Given the description of an element on the screen output the (x, y) to click on. 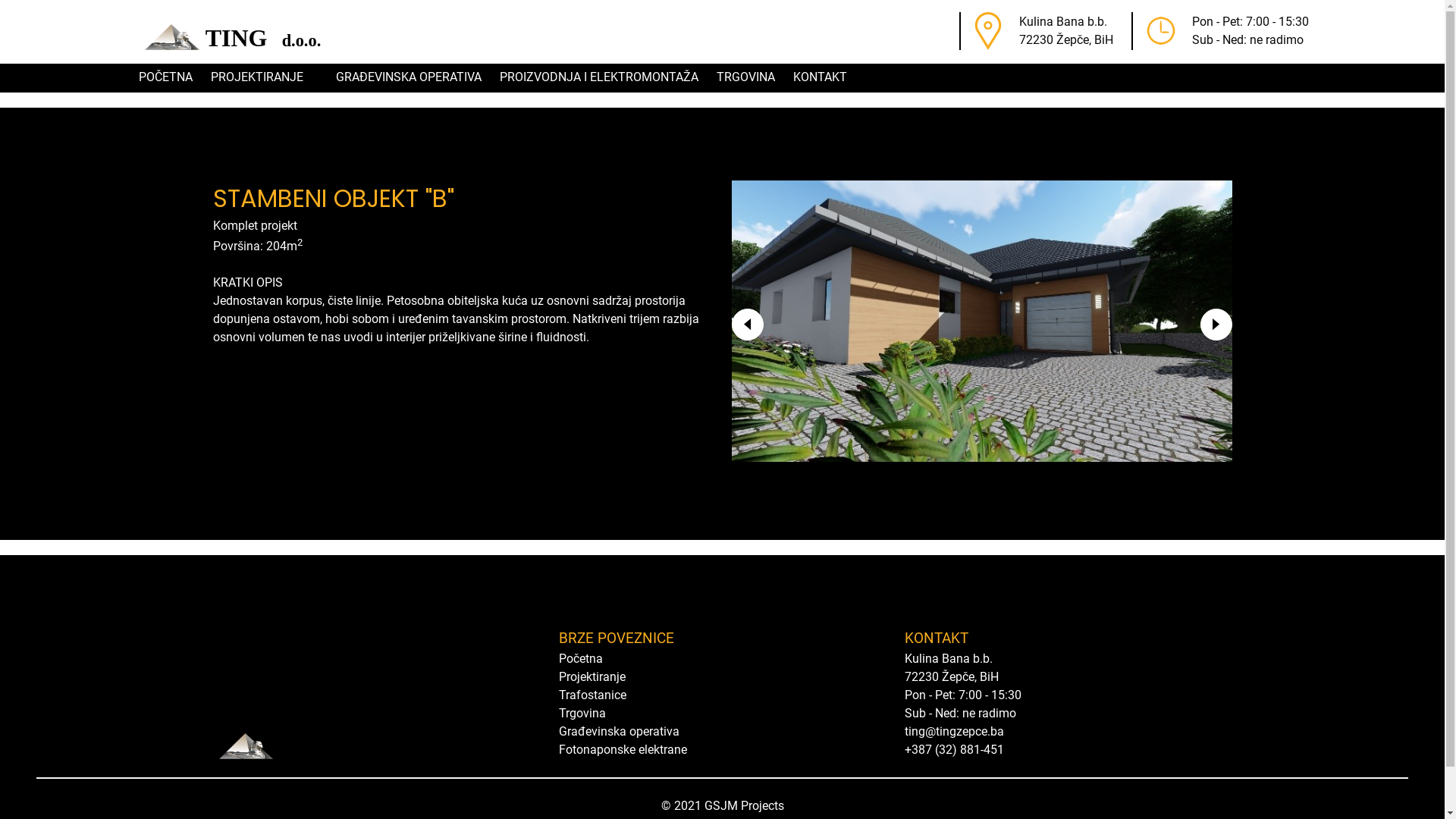
KONTAKT Element type: text (820, 77)
TING d.o.o. Element type: text (229, 31)
TRGOVINA Element type: text (745, 77)
Projektiranje Element type: text (591, 676)
Fotonaponske elektrane Element type: text (622, 749)
Trgovina Element type: text (581, 713)
Trafostanice Element type: text (591, 694)
PROJEKTIRANJE Element type: text (263, 77)
